Given the description of an element on the screen output the (x, y) to click on. 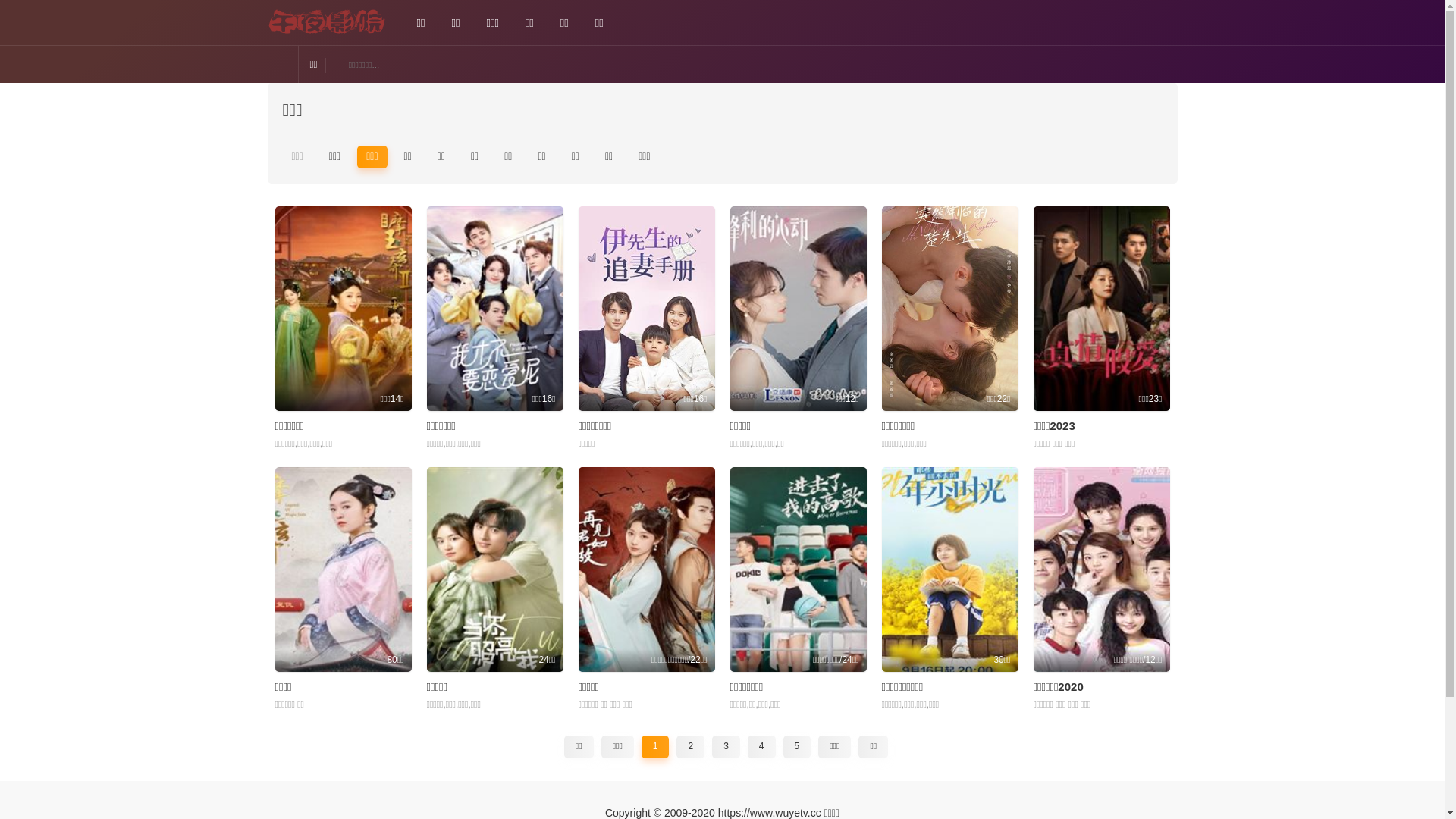
5 Element type: text (797, 746)
4 Element type: text (761, 746)
3 Element type: text (726, 746)
1 Element type: text (655, 746)
2 Element type: text (690, 746)
